Given the description of an element on the screen output the (x, y) to click on. 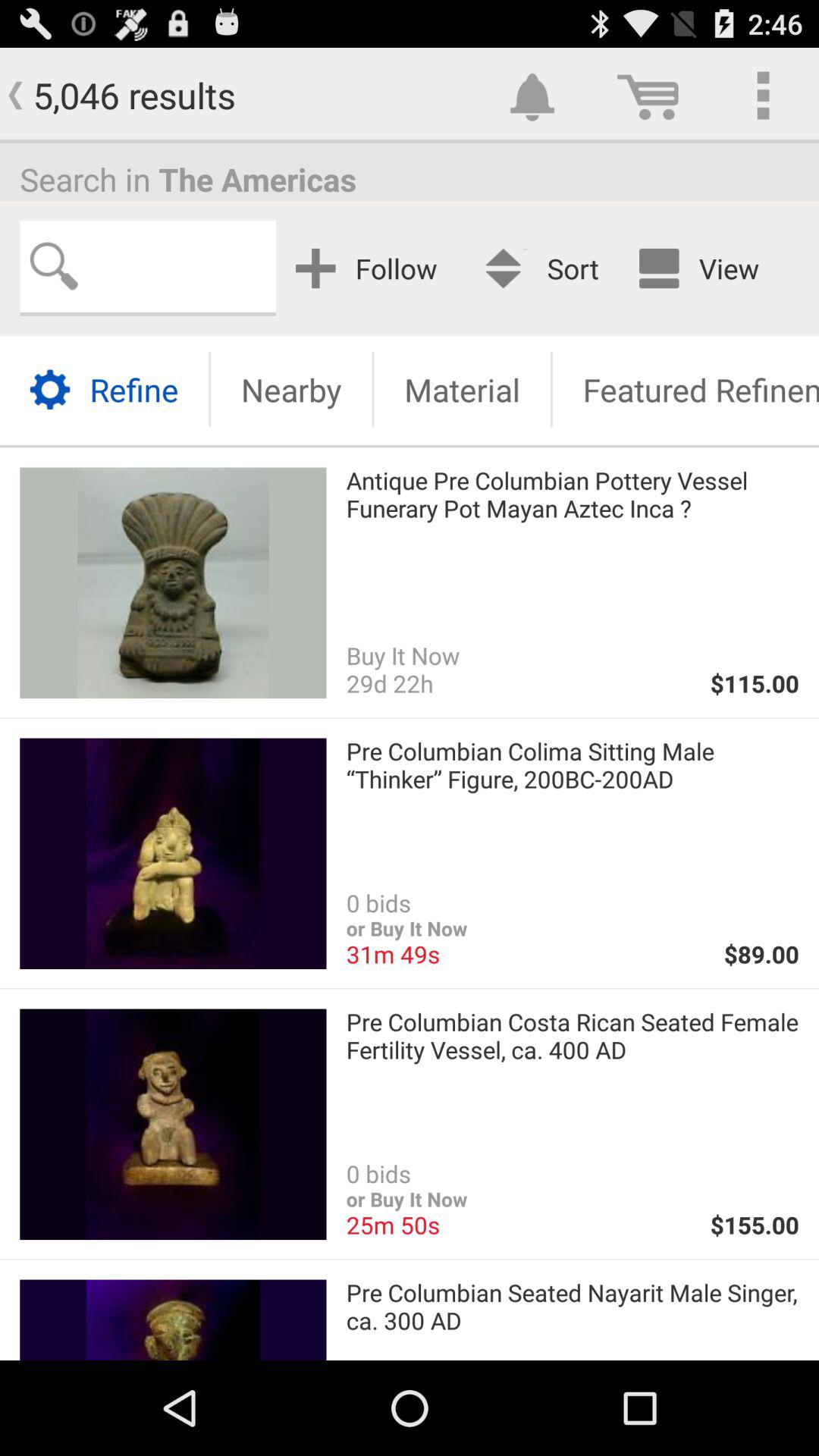
swipe to featured refinements icon (685, 389)
